Given the description of an element on the screen output the (x, y) to click on. 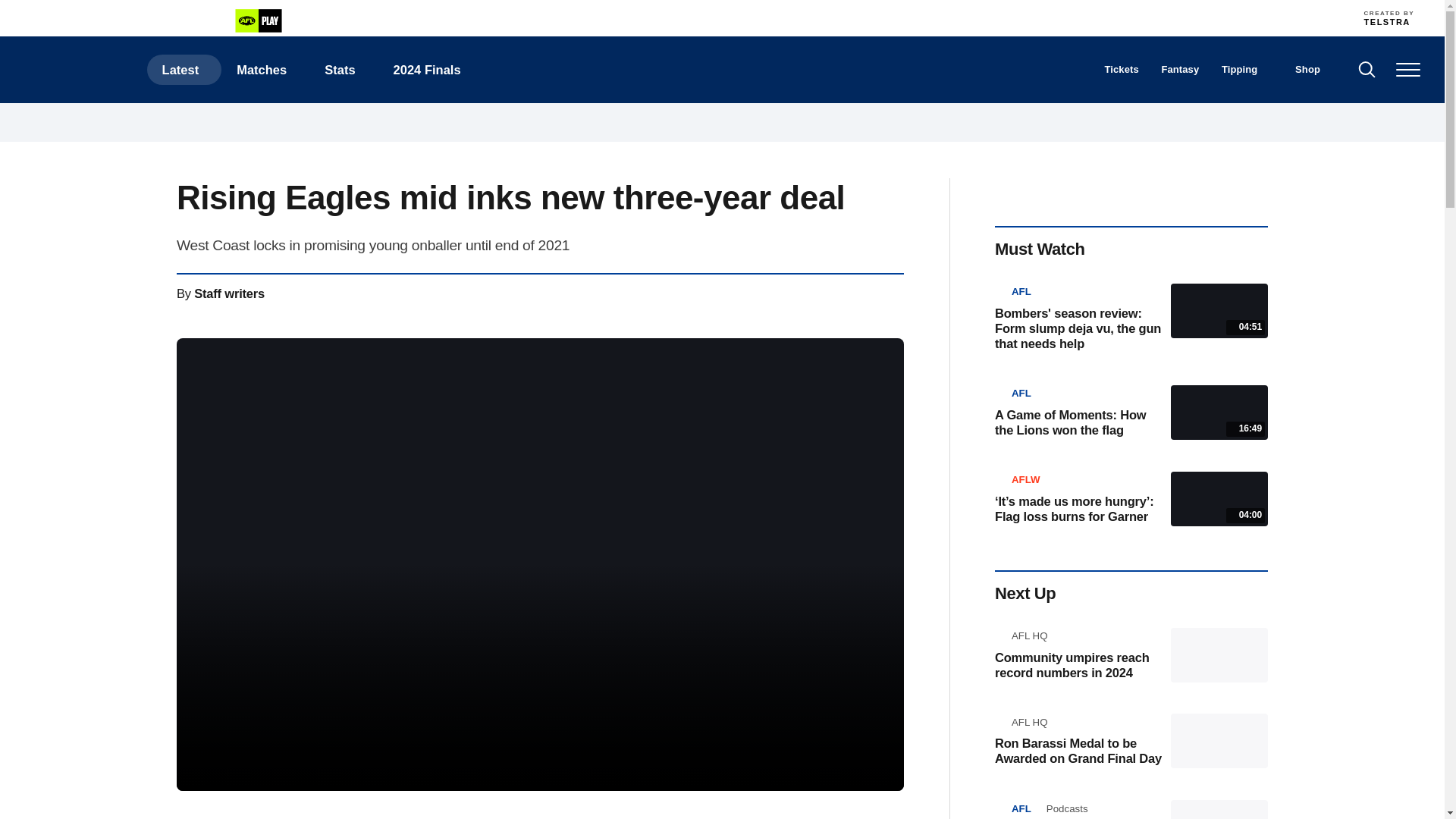
AFLW (155, 21)
St Kilda (1004, 17)
Western Bulldogs (1104, 17)
Fremantle (704, 17)
Collingwood (637, 17)
Richmond (971, 17)
North Melbourne (904, 17)
Western Bulldogs (1104, 17)
Port Adelaide (938, 17)
Hawthorn (837, 17)
